Given the description of an element on the screen output the (x, y) to click on. 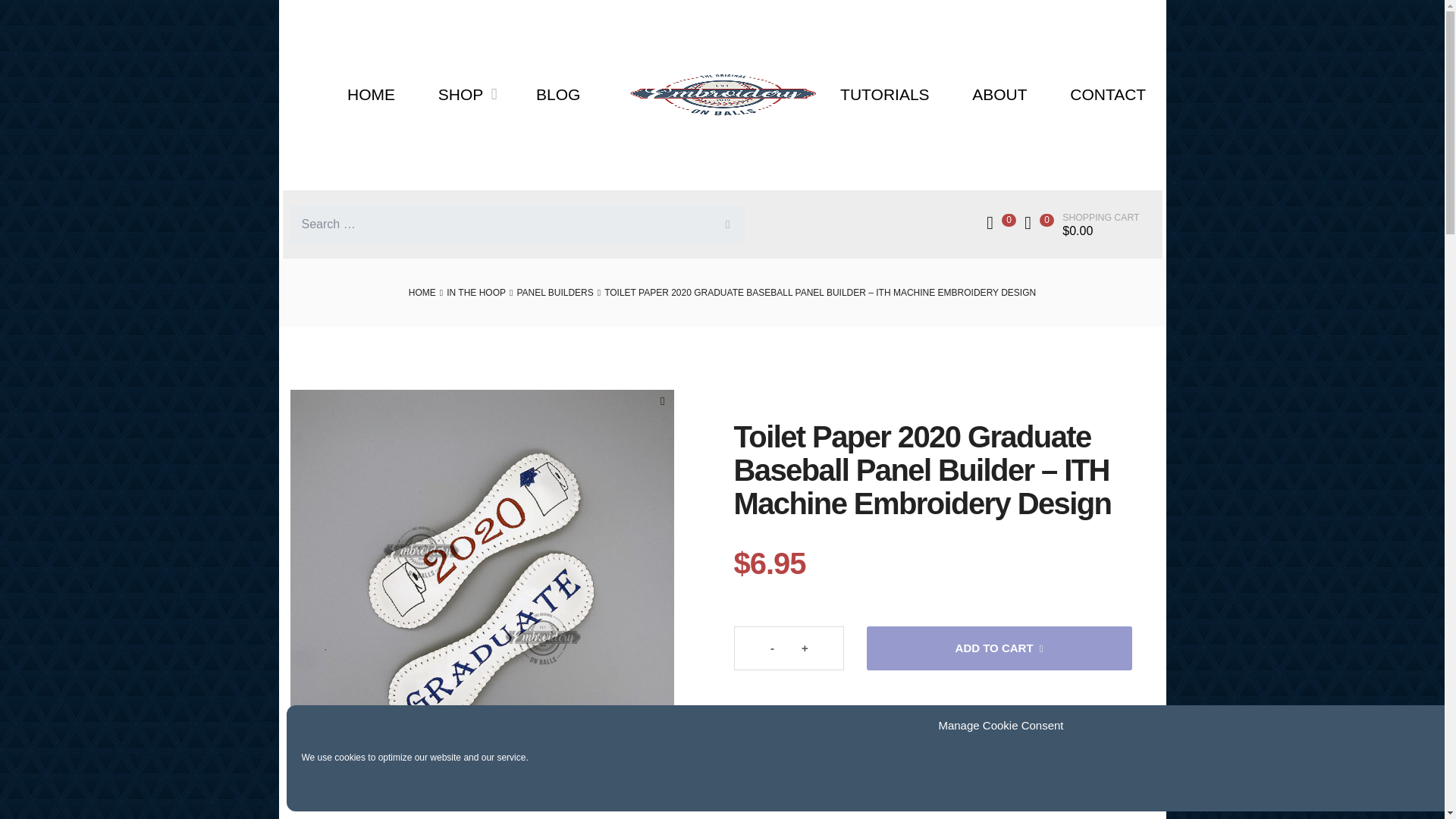
Click to share on Reddit (819, 779)
IN THE HOOP (475, 292)
PANEL BUILDERS (554, 292)
SHOP (466, 94)
HOME (370, 94)
HOME (422, 292)
BLOG (557, 94)
SEARCH (725, 224)
